Given the description of an element on the screen output the (x, y) to click on. 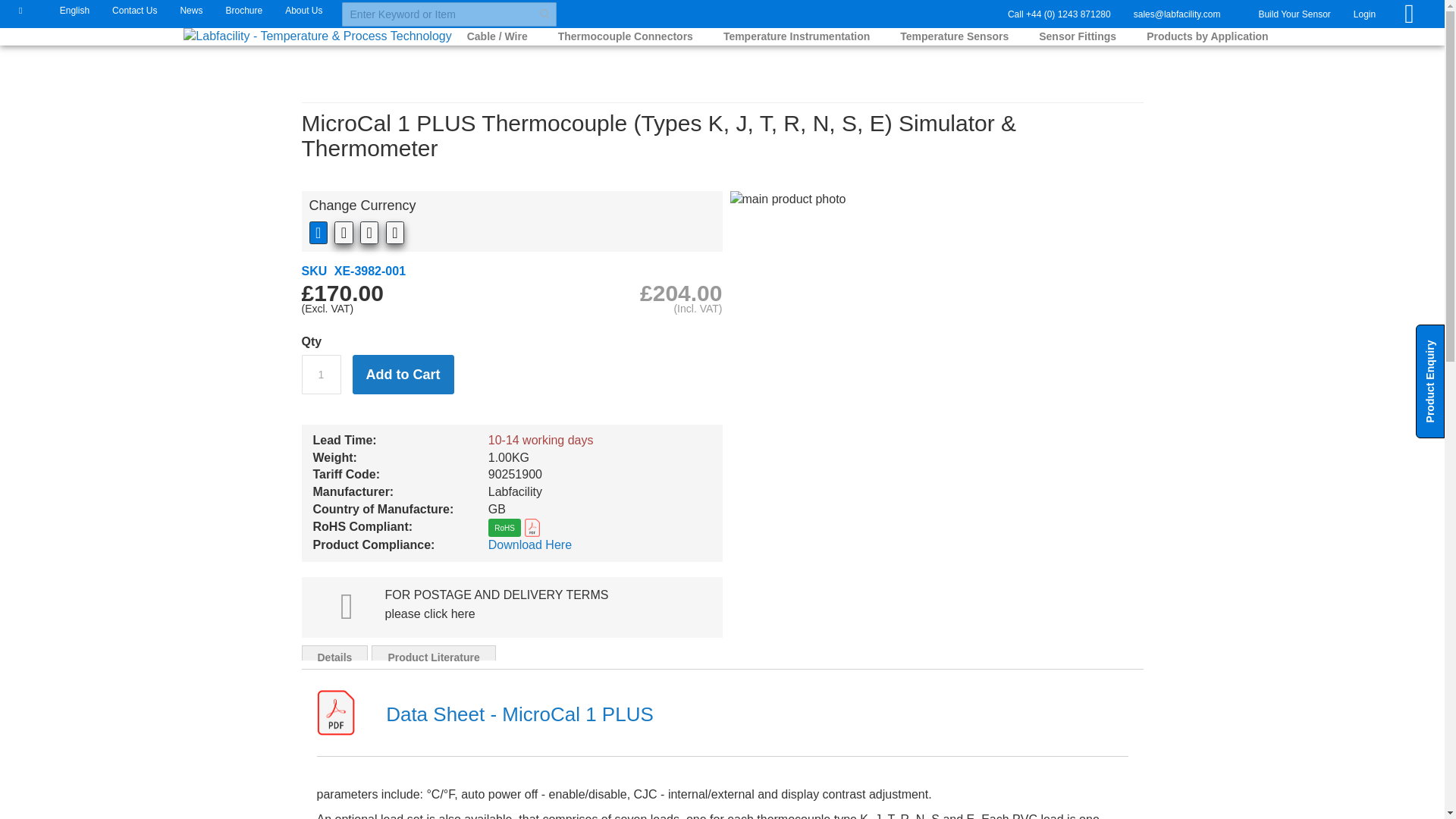
English (66, 9)
Brochure (243, 9)
Login (1363, 13)
About Us (303, 9)
1 (320, 373)
Build Your Sensor (1293, 13)
News (191, 9)
Contact Us (133, 9)
